Given the description of an element on the screen output the (x, y) to click on. 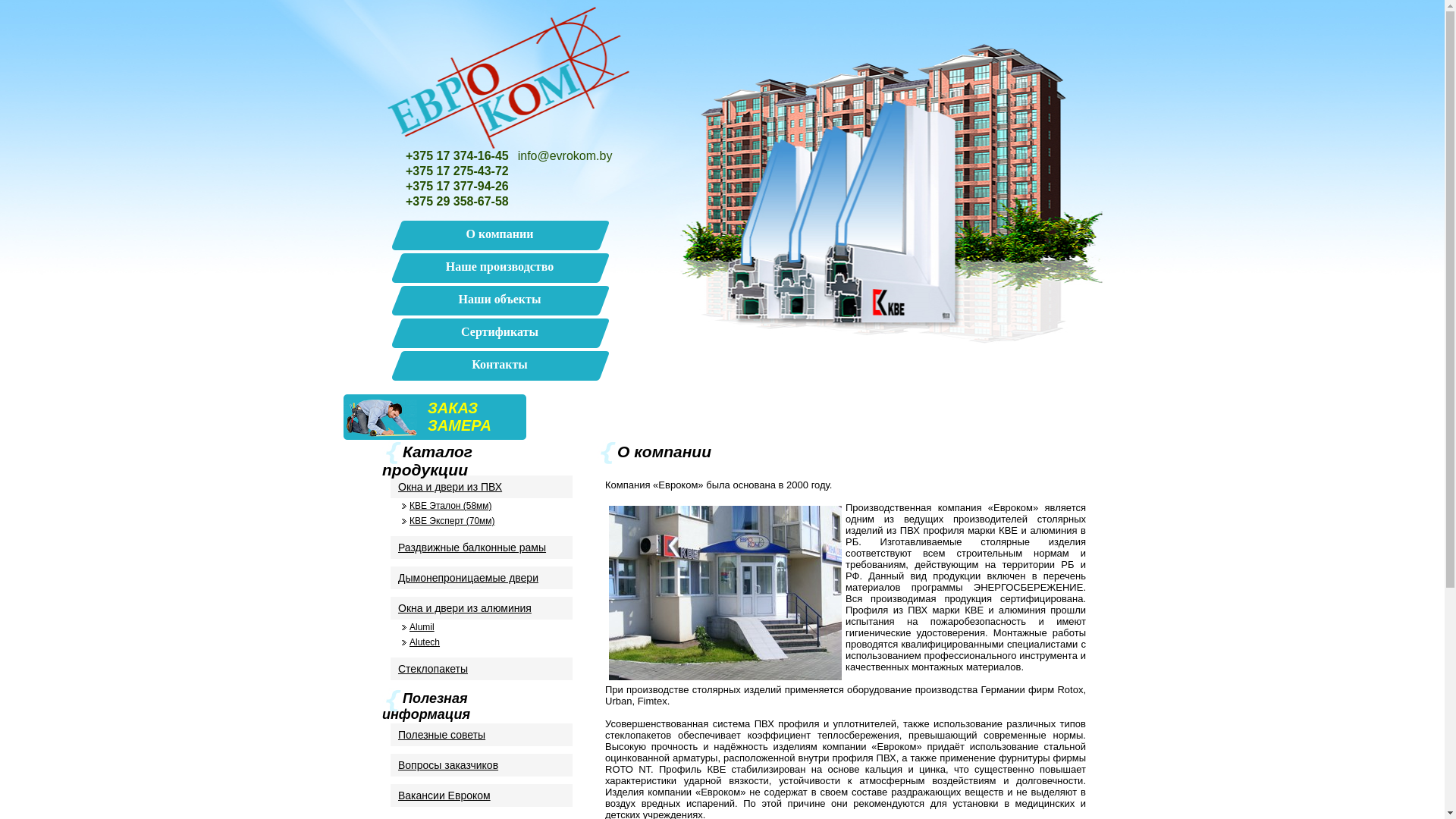
Alumil Element type: text (481, 626)
Alutech Element type: text (481, 641)
